Given the description of an element on the screen output the (x, y) to click on. 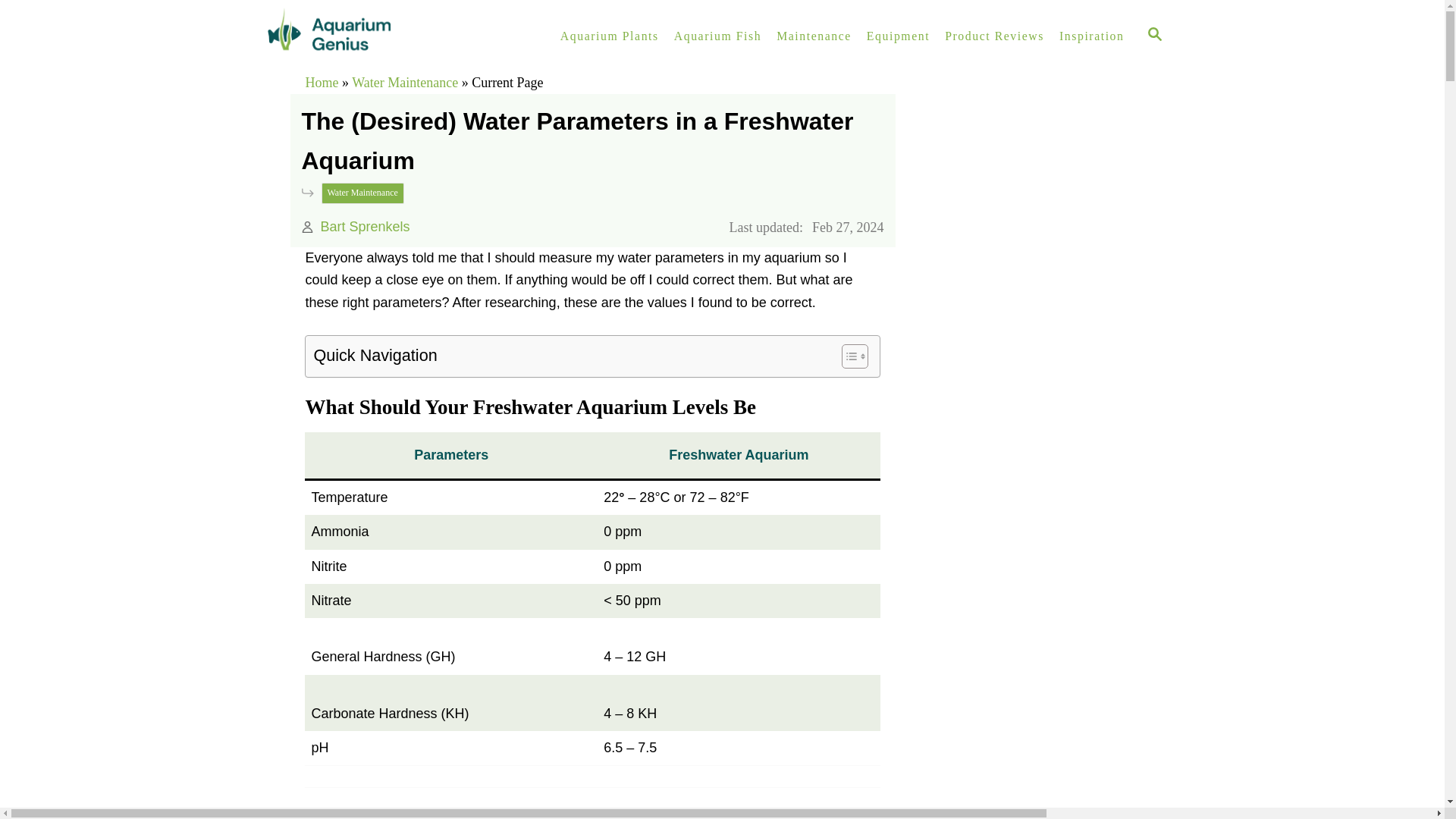
Maintenance (813, 36)
Aquarium Fish (717, 36)
Product Reviews (994, 36)
Aquarium Plants (609, 36)
SEARCH (1154, 35)
Aquarium Genius (394, 36)
Equipment (898, 36)
